Given the description of an element on the screen output the (x, y) to click on. 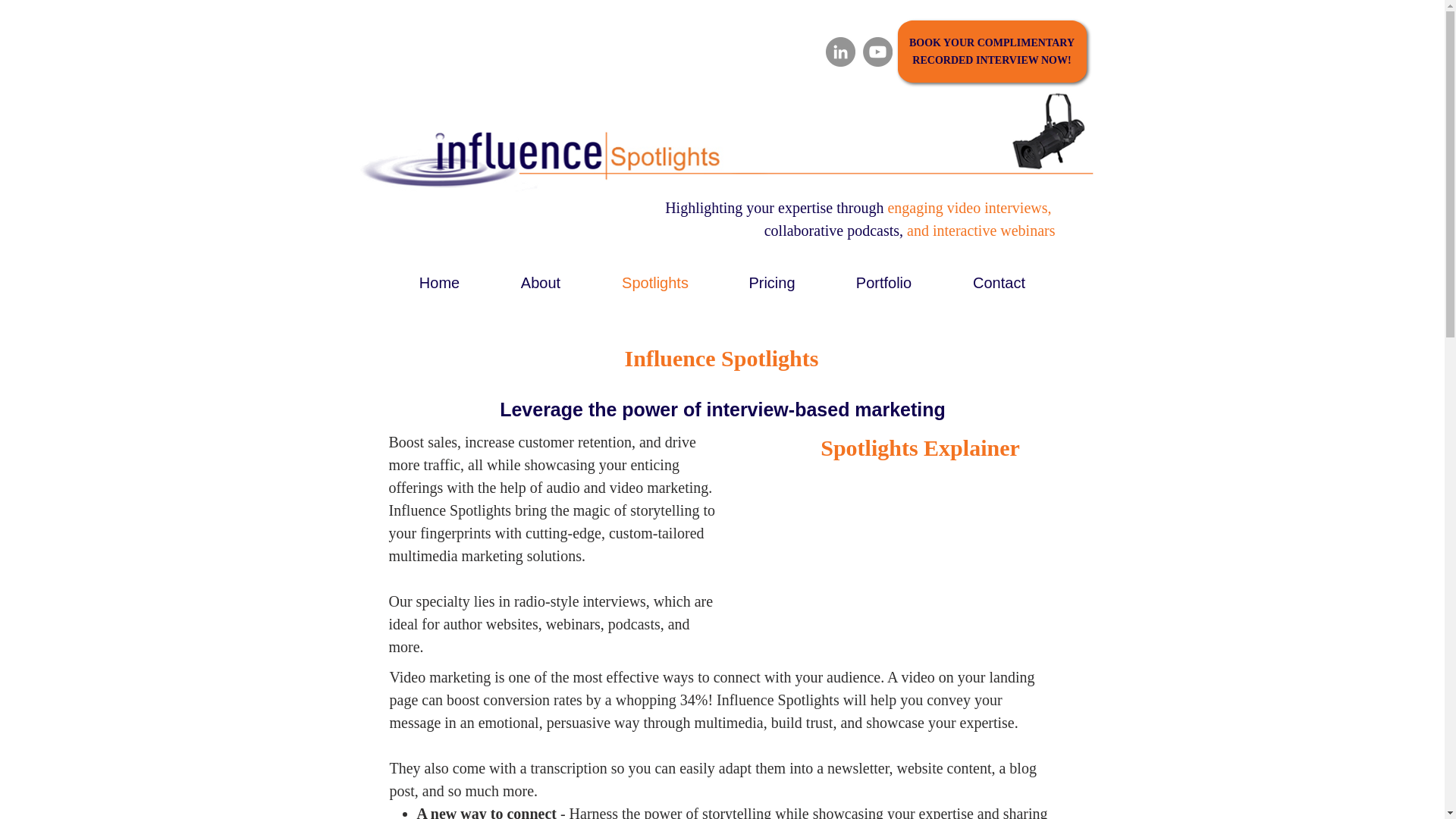
BOOK YOUR COMPLIMENTARY RECORDED INTERVIEW NOW! (991, 51)
Home (438, 282)
About (540, 282)
Contact (999, 282)
Portfolio (884, 282)
Pricing (771, 282)
Spotlights (655, 282)
